Given the description of an element on the screen output the (x, y) to click on. 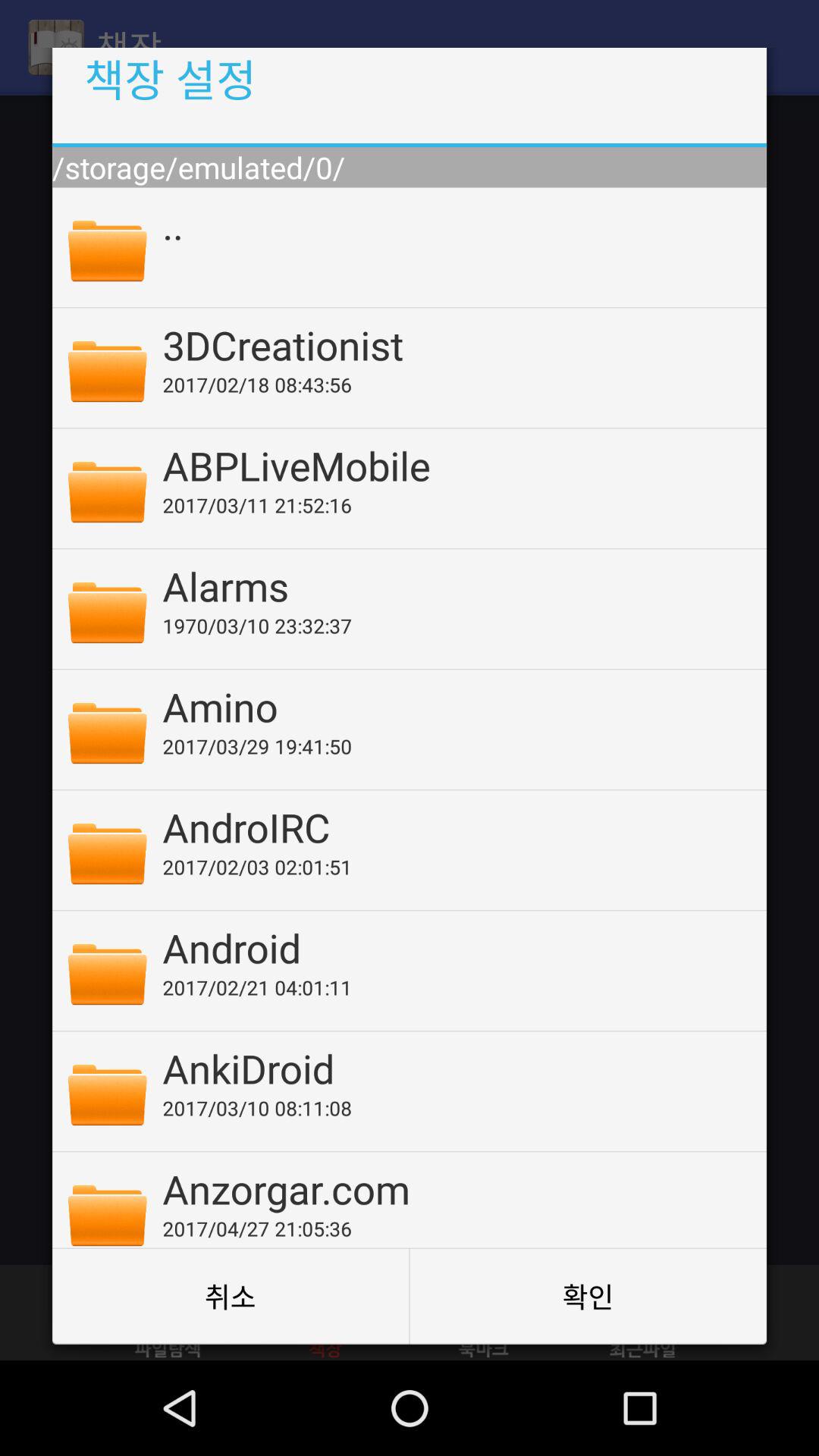
press the abplivemobile (454, 465)
